Given the description of an element on the screen output the (x, y) to click on. 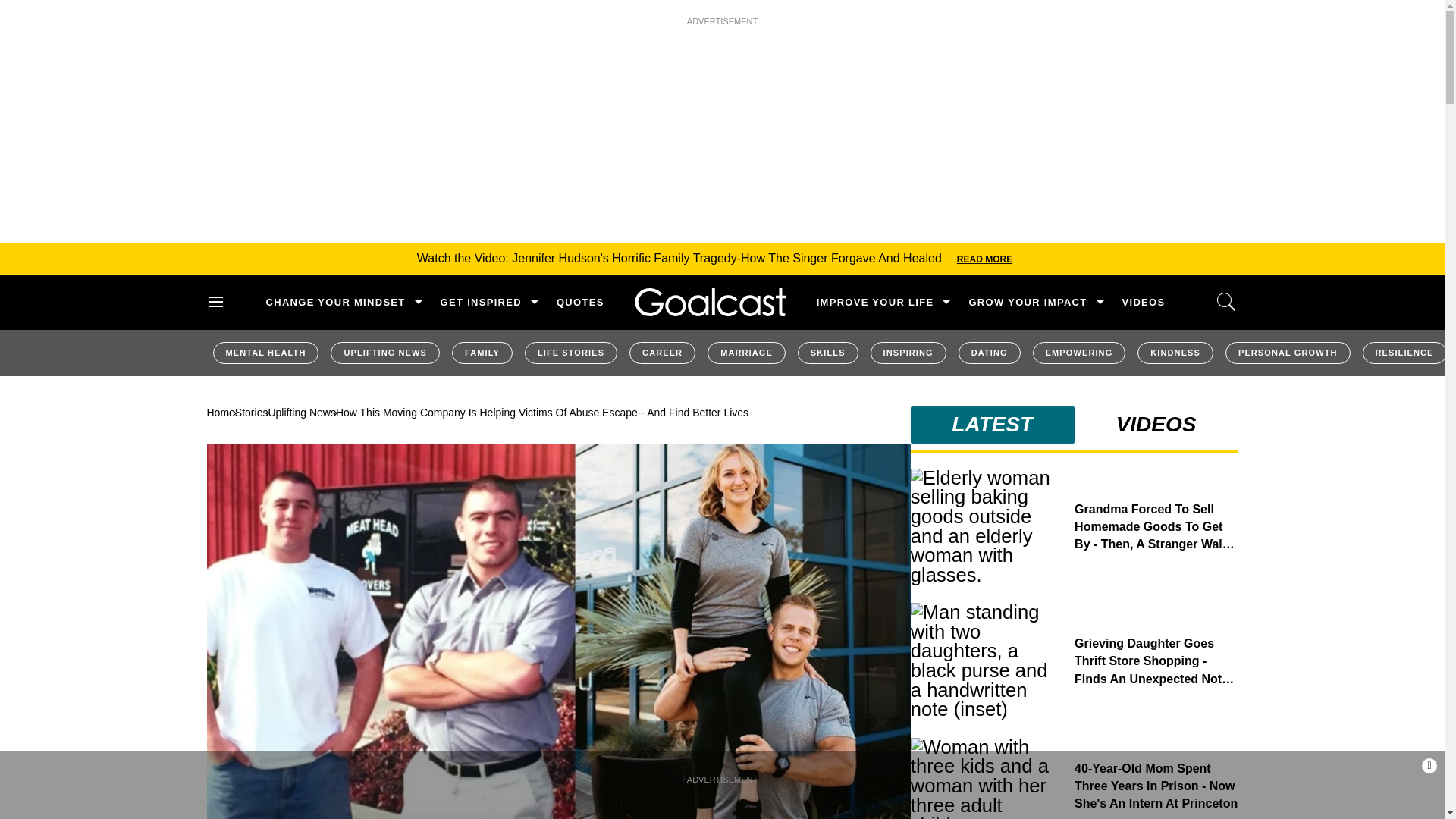
CHANGE YOUR MINDSET (334, 301)
GET INSPIRED (481, 301)
GROW YOUR IMPACT (1027, 301)
IMPROVE YOUR LIFE (875, 301)
QUOTES (580, 301)
VIDEOS (1144, 301)
